Given the description of an element on the screen output the (x, y) to click on. 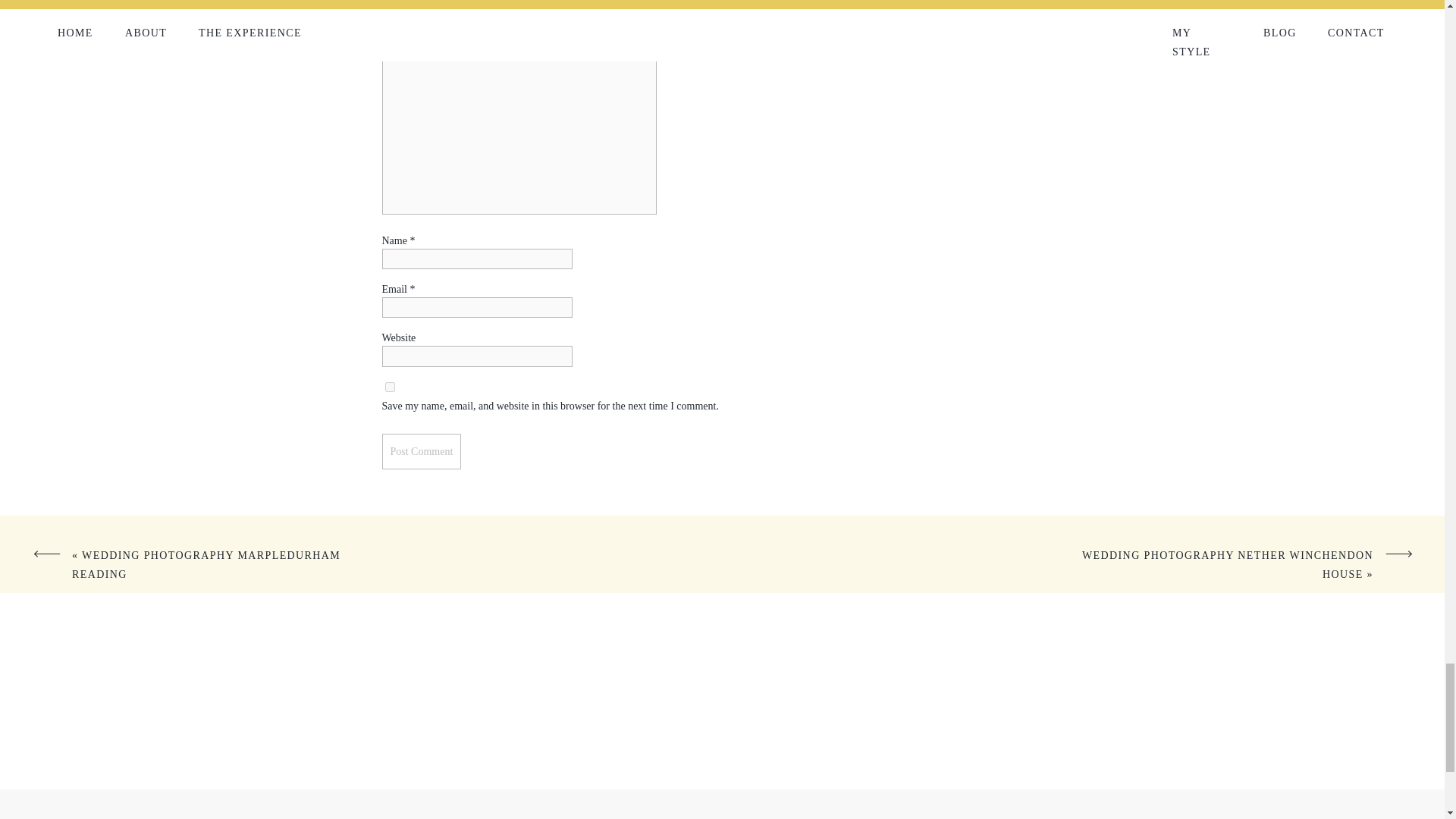
WEDDING PHOTOGRAPHY MARPLEDURHAM READING (205, 564)
Post Comment (421, 451)
WEDDING PHOTOGRAPHY NETHER WINCHENDON HOUSE (1227, 564)
yes (389, 387)
Post Comment (421, 451)
